Given the description of an element on the screen output the (x, y) to click on. 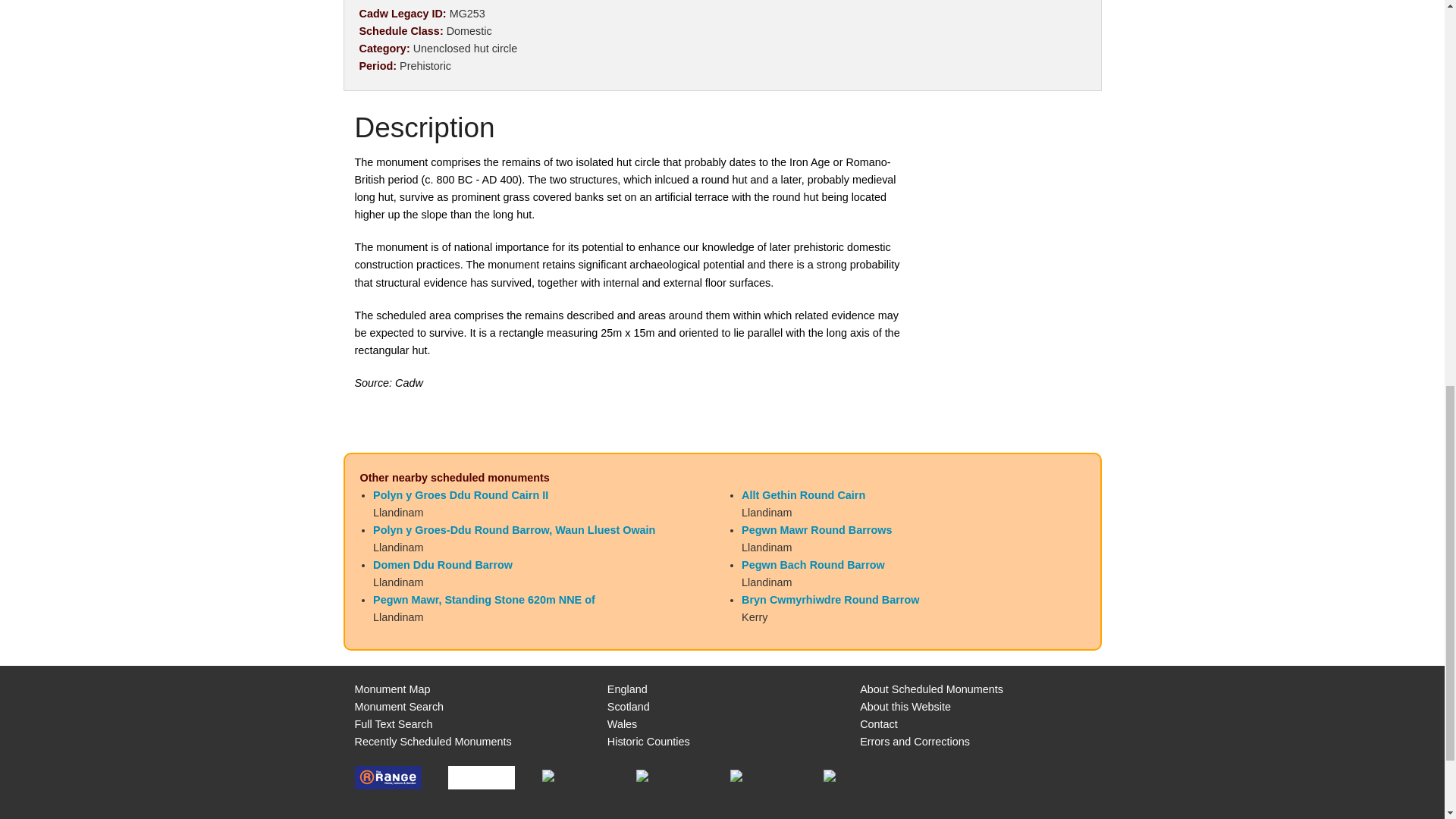
Domen Ddu Round Barrow (442, 564)
Polyn y Groes-Ddu Round Barrow, Waun Lluest Owain (513, 530)
Polyn y Groes Ddu Round Cairn II (460, 494)
Allt Gethin Round Cairn (802, 494)
Pegwn Mawr, Standing Stone 620m NNE of (483, 599)
